Given the description of an element on the screen output the (x, y) to click on. 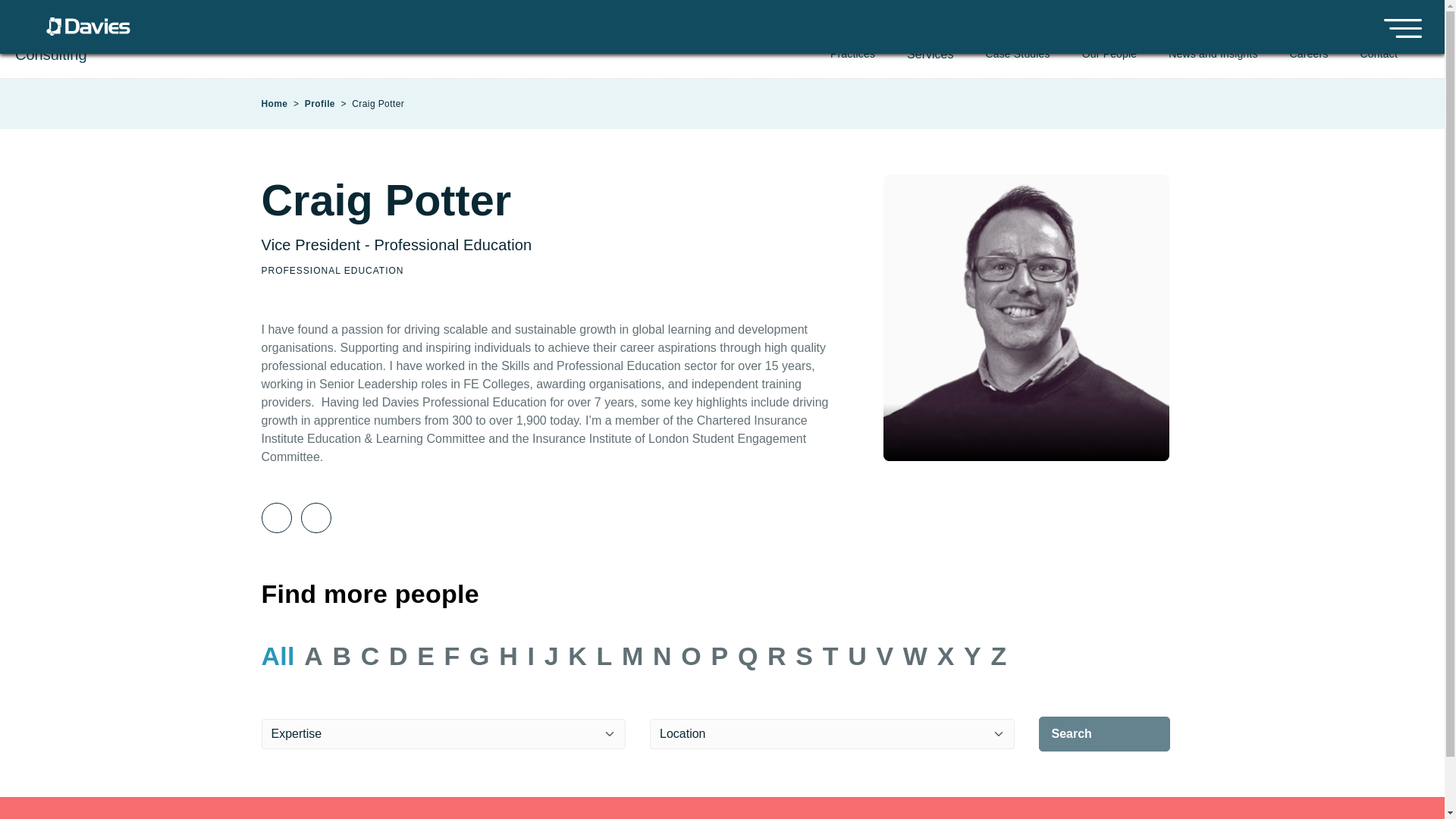
Davies (88, 551)
Davies (87, 23)
